Given the description of an element on the screen output the (x, y) to click on. 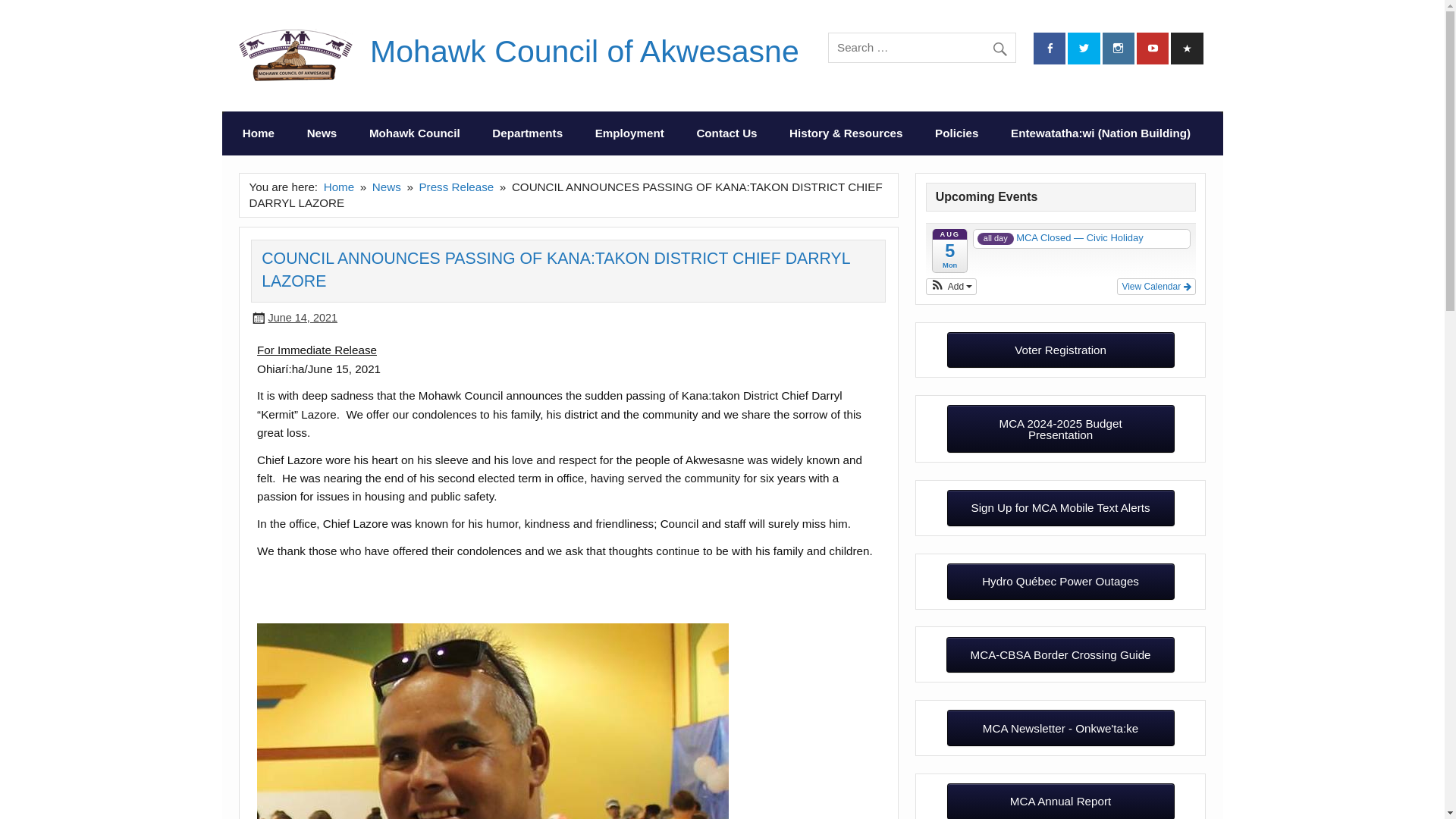
News (320, 133)
Departments (527, 133)
Mohawk Council of Akwesasne (584, 51)
Home (259, 133)
10:42 AM (302, 317)
Mohawk Council (414, 133)
